Given the description of an element on the screen output the (x, y) to click on. 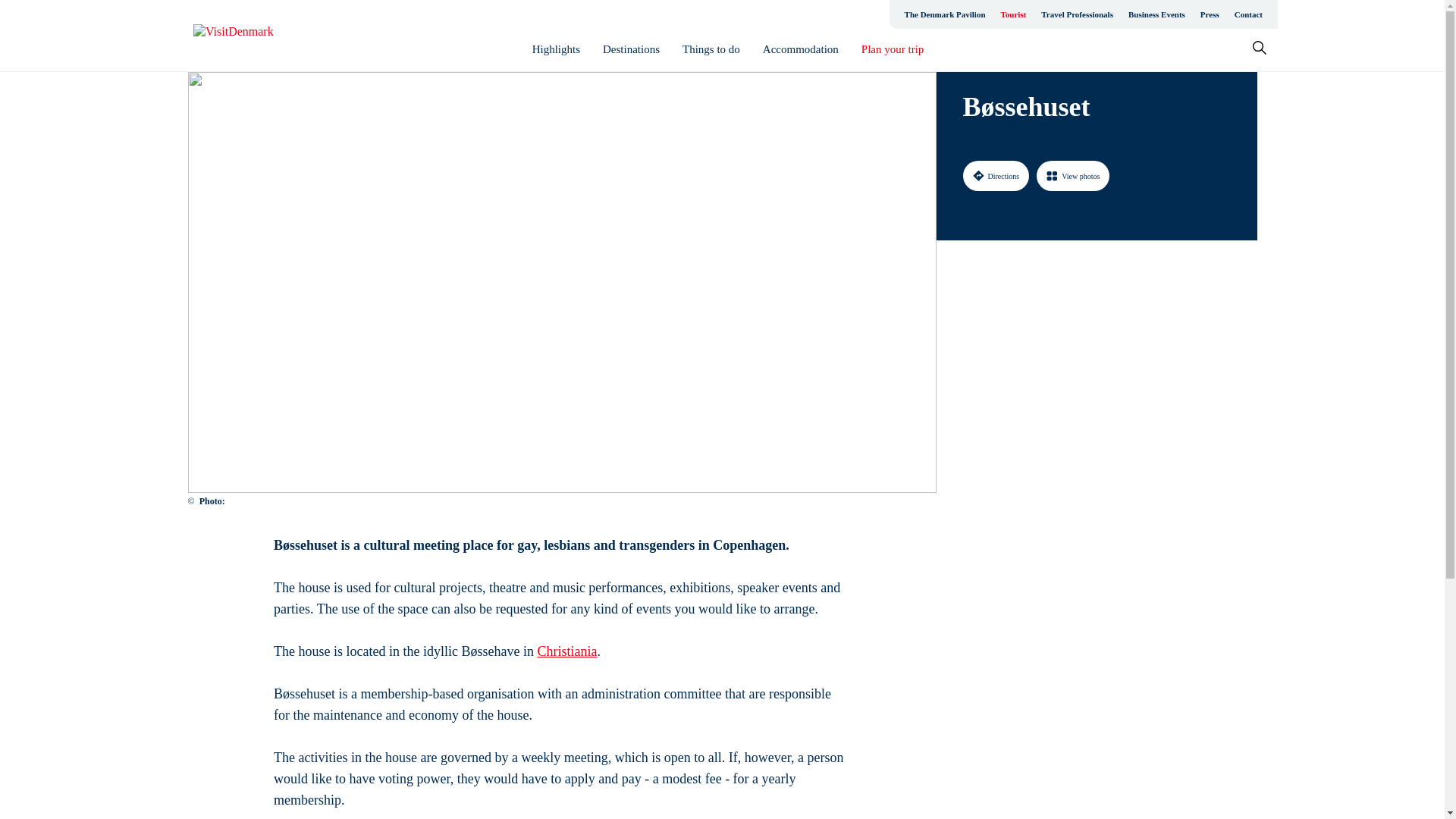
Accommodation (800, 49)
View photos (1072, 175)
Destinations (630, 49)
Christiania (566, 651)
Business Events (1156, 14)
Go to homepage (253, 35)
Things to do (710, 49)
Highlights (555, 49)
Contact (1248, 14)
Plan your trip (892, 49)
